Given the description of an element on the screen output the (x, y) to click on. 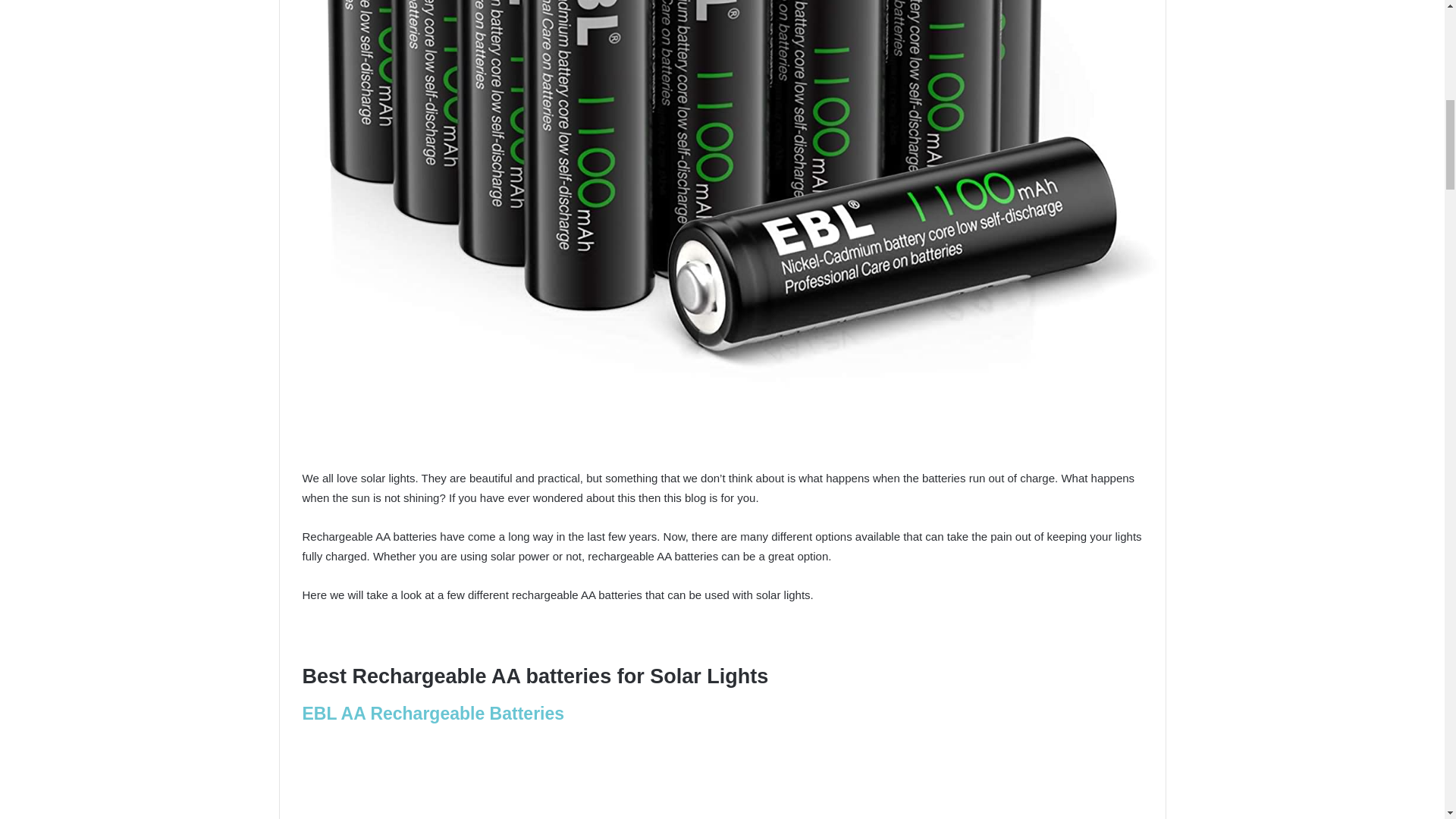
EBL AA Rechargeable Batteries  (435, 713)
